Given the description of an element on the screen output the (x, y) to click on. 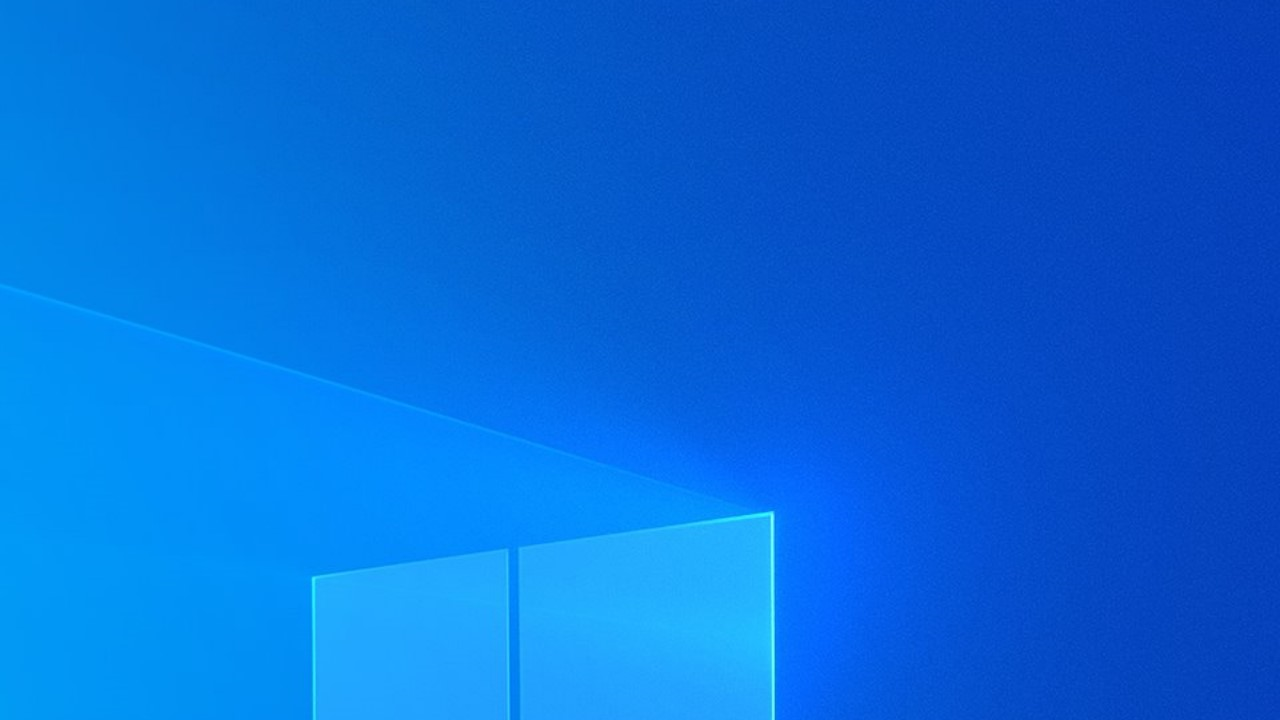
Intense Emphasis (143, 100)
Intense Reference (504, 100)
Replace... (753, 101)
Subtle Reference (431, 100)
Quote (287, 100)
